Given the description of an element on the screen output the (x, y) to click on. 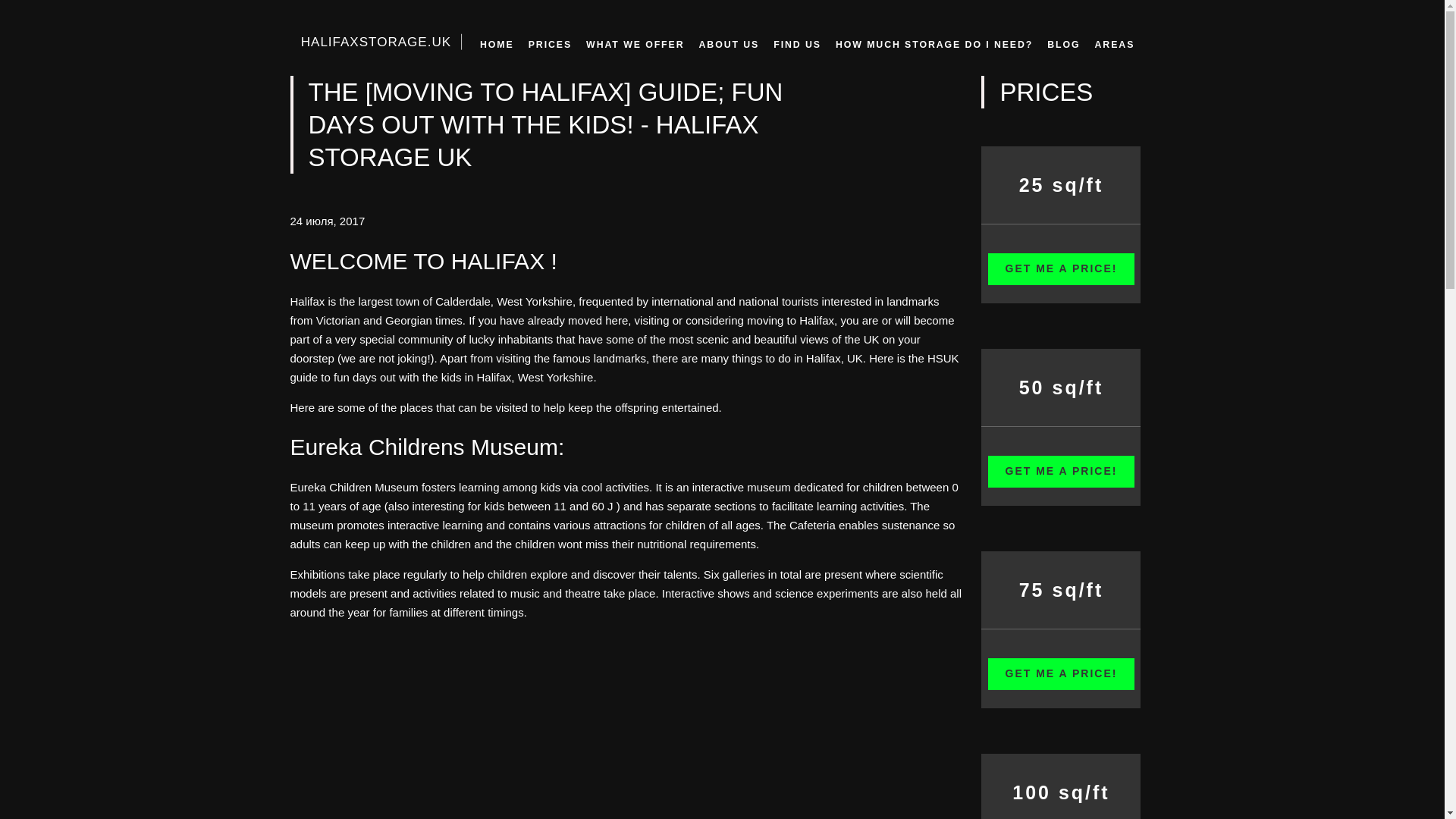
ABOUT US (730, 45)
FIND US (798, 45)
PRICES (550, 45)
HALIFAXSTORAGE.UK (385, 42)
WHAT WE OFFER (637, 45)
HOME (497, 45)
HALIFAXSTORAGE.UK (379, 42)
AREAS (1115, 45)
HOW MUCH STORAGE DO I NEED? (939, 45)
BLOG (1063, 45)
